Given the description of an element on the screen output the (x, y) to click on. 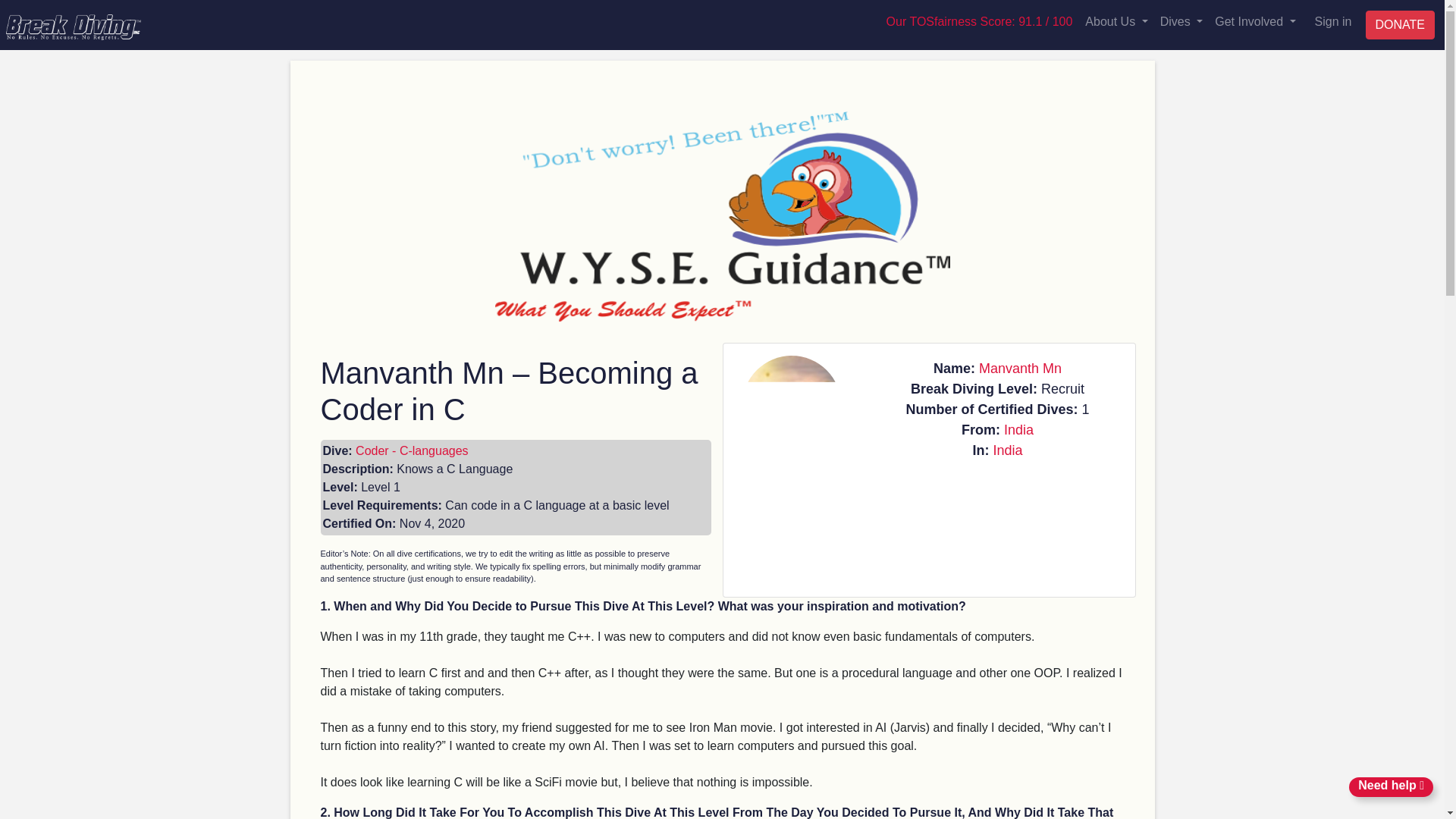
Manvanth Mn (1019, 368)
Coder - C-languages (411, 450)
India (1018, 429)
Dives (1182, 22)
Sign in (1333, 21)
DONATE (1399, 24)
About Us (1115, 22)
Get Involved (1254, 22)
India (1007, 450)
Need help (1390, 786)
